Given the description of an element on the screen output the (x, y) to click on. 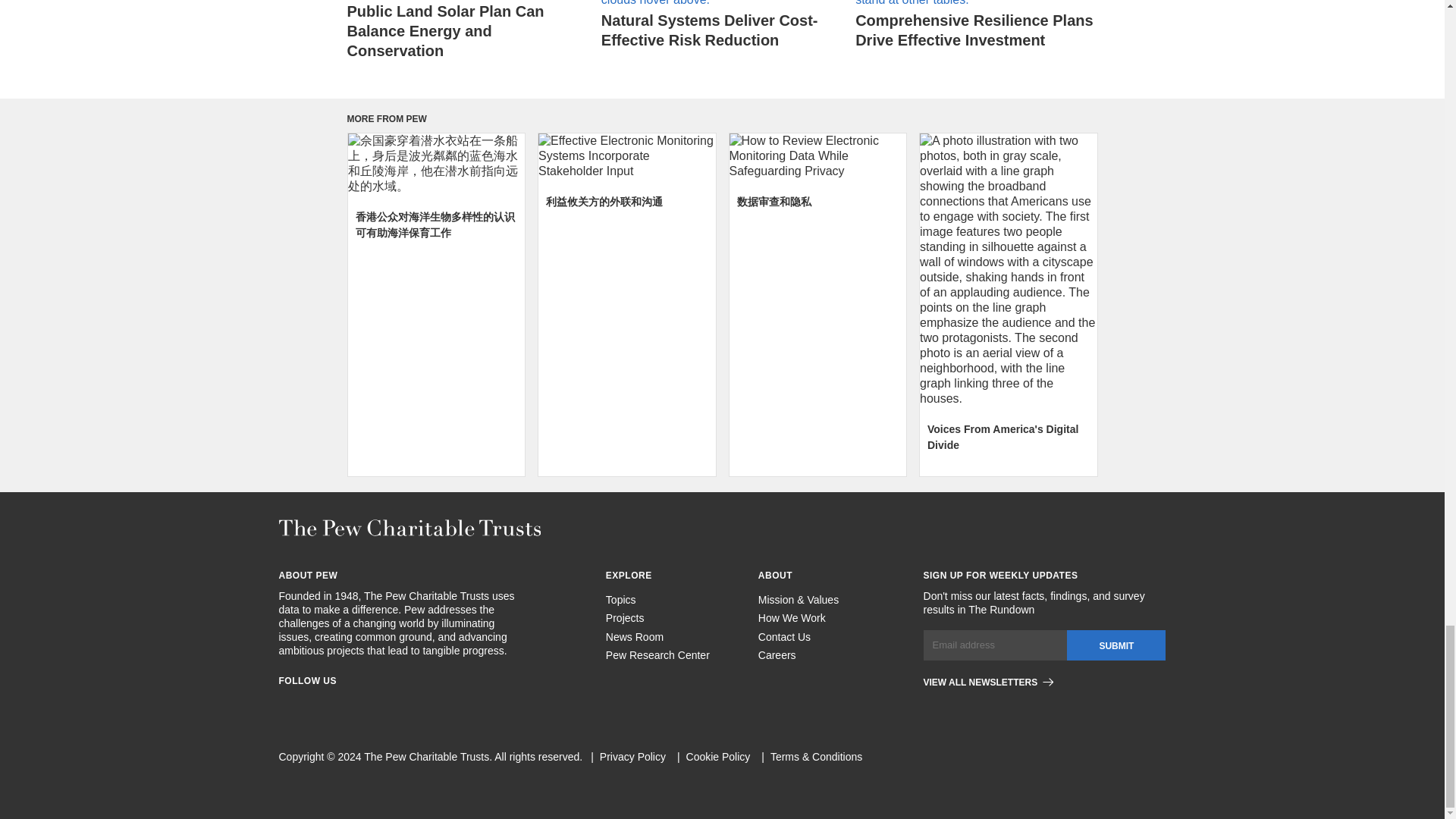
Instagram (312, 704)
Facebook (285, 704)
